Given the description of an element on the screen output the (x, y) to click on. 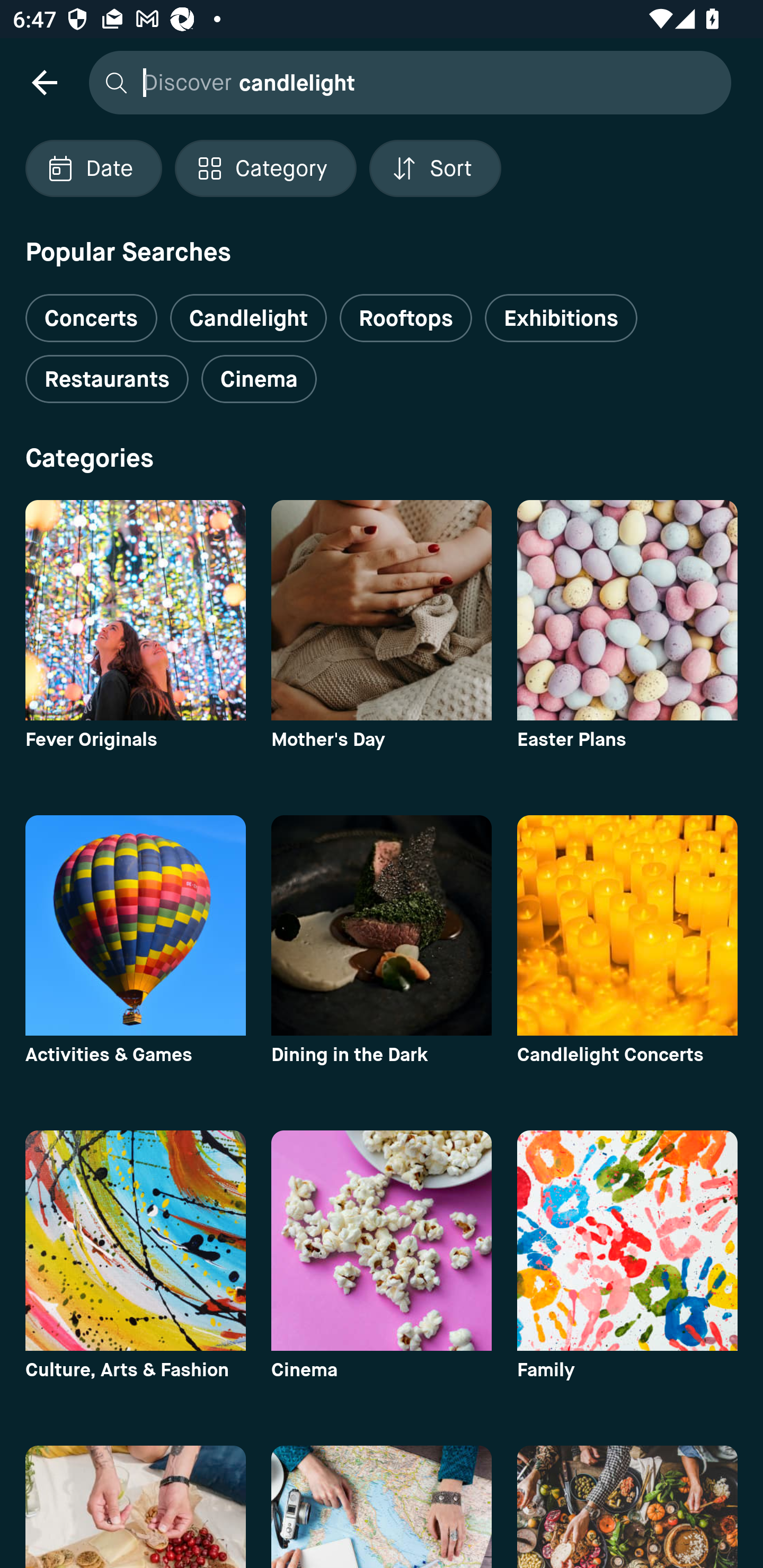
navigation icon (44, 81)
Discover live shows candlelight (405, 81)
Localized description Date (93, 168)
Localized description Category (265, 168)
Localized description Sort (435, 168)
Concerts (91, 310)
Candlelight (248, 317)
Rooftops (405, 317)
Exhibitions (560, 317)
Restaurants (106, 379)
Cinema (258, 379)
category image (135, 609)
category image (381, 609)
category image (627, 609)
category image (135, 924)
category image (381, 924)
category image (627, 924)
category image (135, 1240)
category image (381, 1240)
category image (627, 1240)
category image (135, 1506)
category image (381, 1506)
category image (627, 1506)
